Given the description of an element on the screen output the (x, y) to click on. 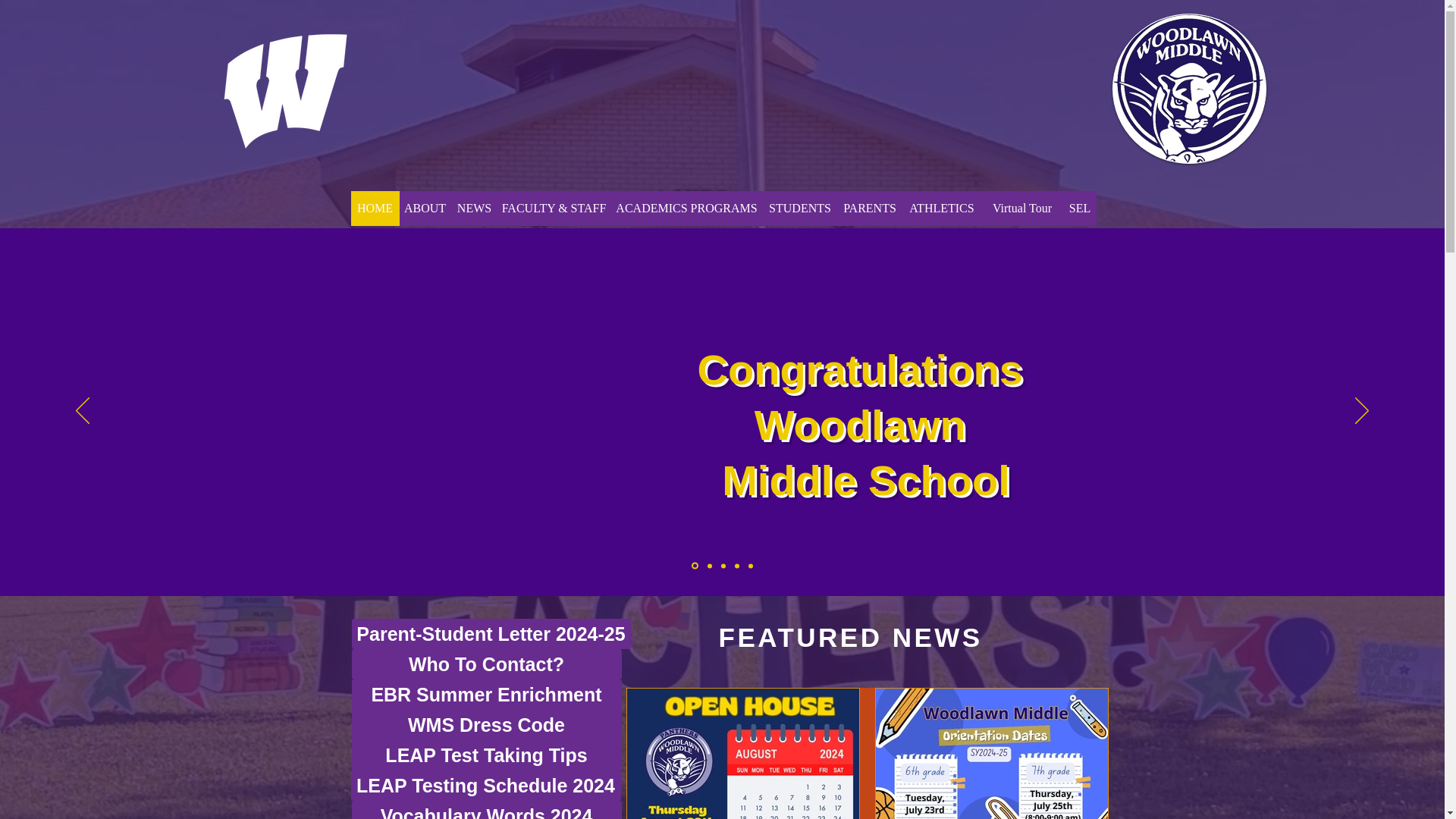
PARENTS (869, 208)
SEL (1079, 208)
NEWS (473, 208)
Vocabulary Words 2024 (486, 809)
ABOUT (423, 208)
STUDENTS (798, 208)
ATHLETICS (940, 208)
ACADEMICS PROGRAMS (686, 208)
Who To Contact? (486, 664)
Virtual Tour (1022, 208)
